Given the description of an element on the screen output the (x, y) to click on. 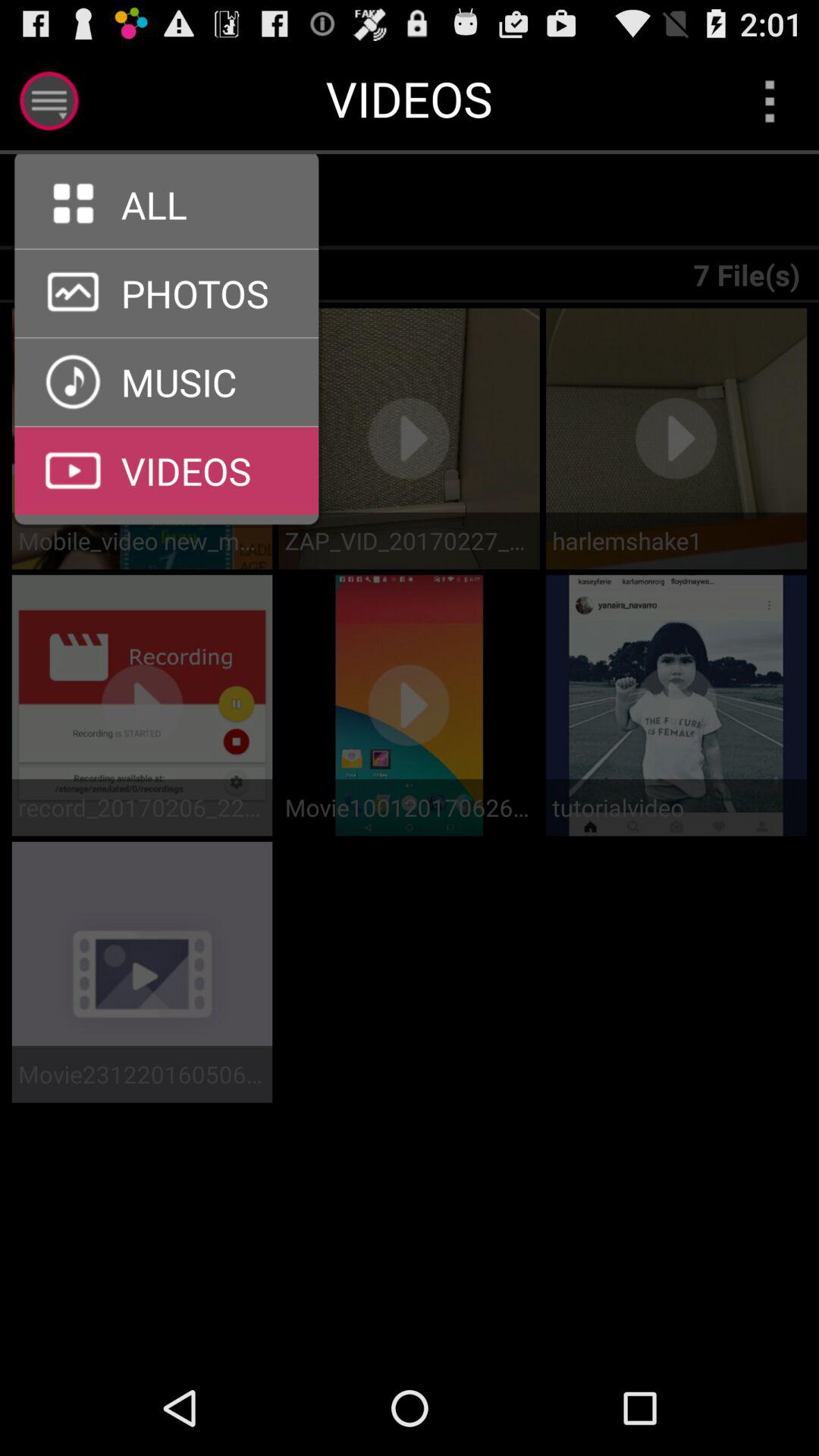
show all (65, 201)
